Given the description of an element on the screen output the (x, y) to click on. 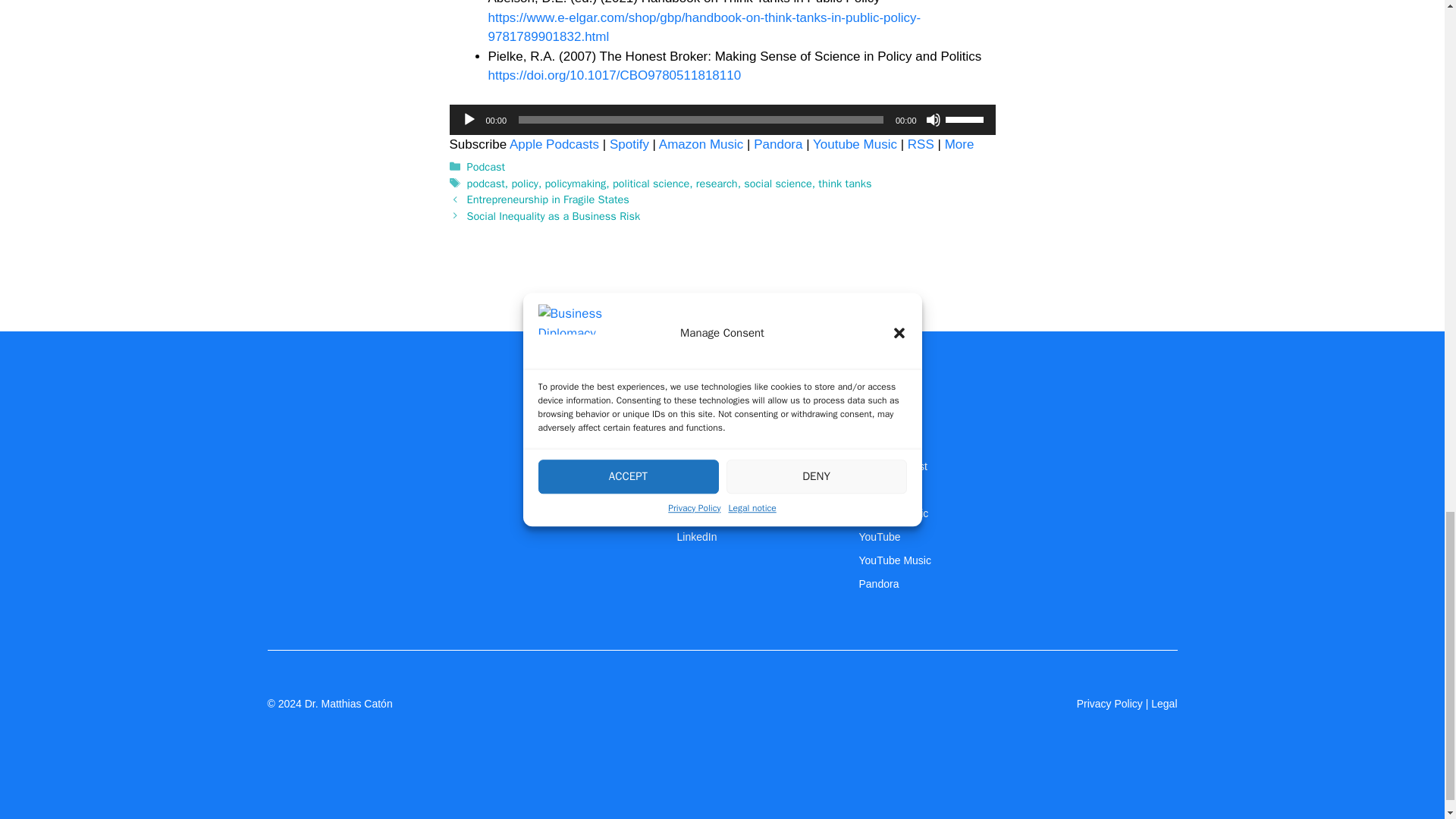
More (959, 144)
Subscribe on Spotify (629, 144)
Subscribe via RSS (920, 144)
Subscribe on Pandora (778, 144)
Subscribe on Apple Podcasts (553, 144)
Play (468, 119)
Subscribe on Amazon Music (700, 144)
Subscribe on Youtube Music (854, 144)
Mute (932, 119)
